Given the description of an element on the screen output the (x, y) to click on. 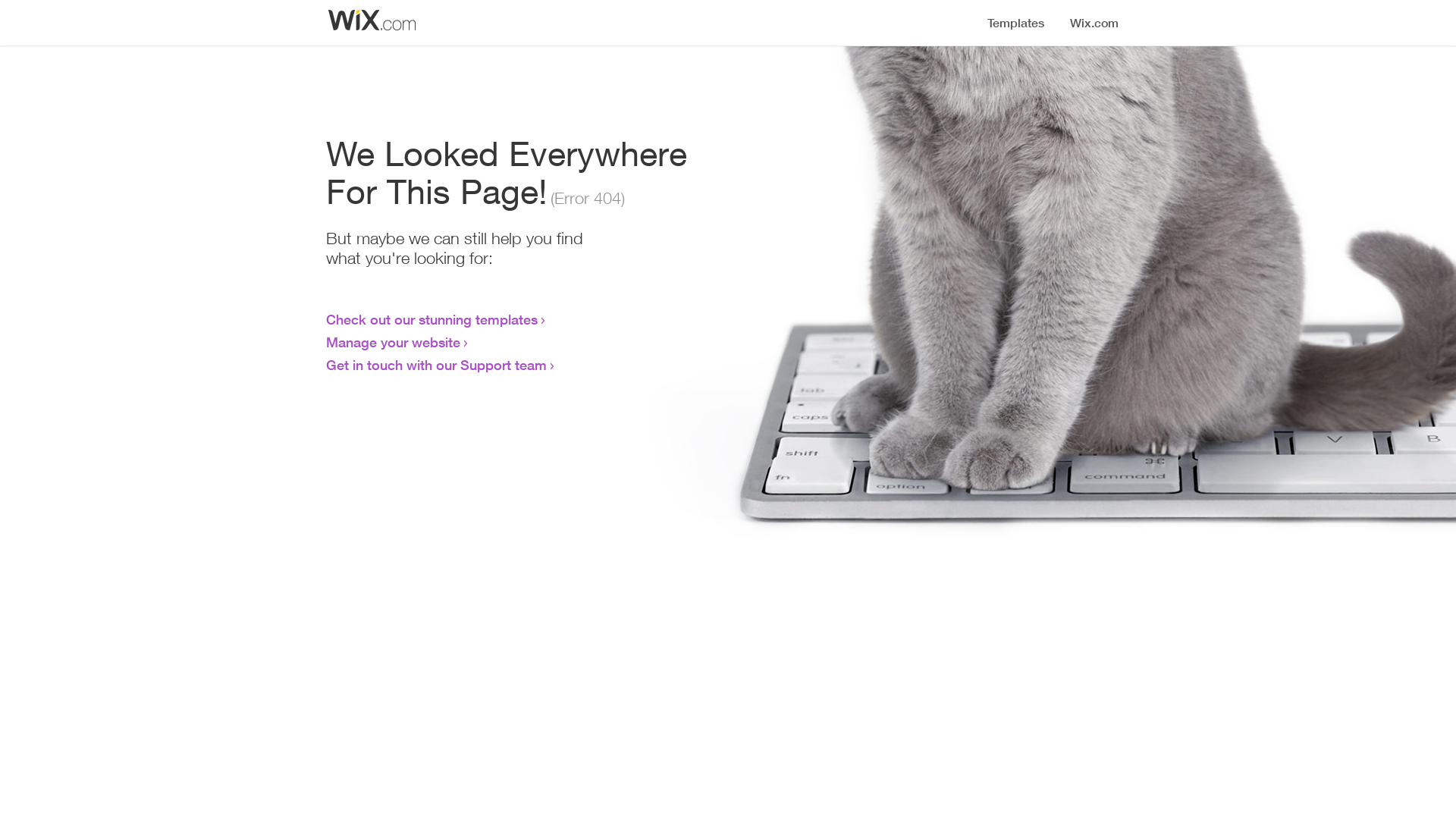
Check out our stunning templates Element type: text (431, 318)
Get in touch with our Support team Element type: text (436, 364)
Manage your website Element type: text (393, 341)
